Given the description of an element on the screen output the (x, y) to click on. 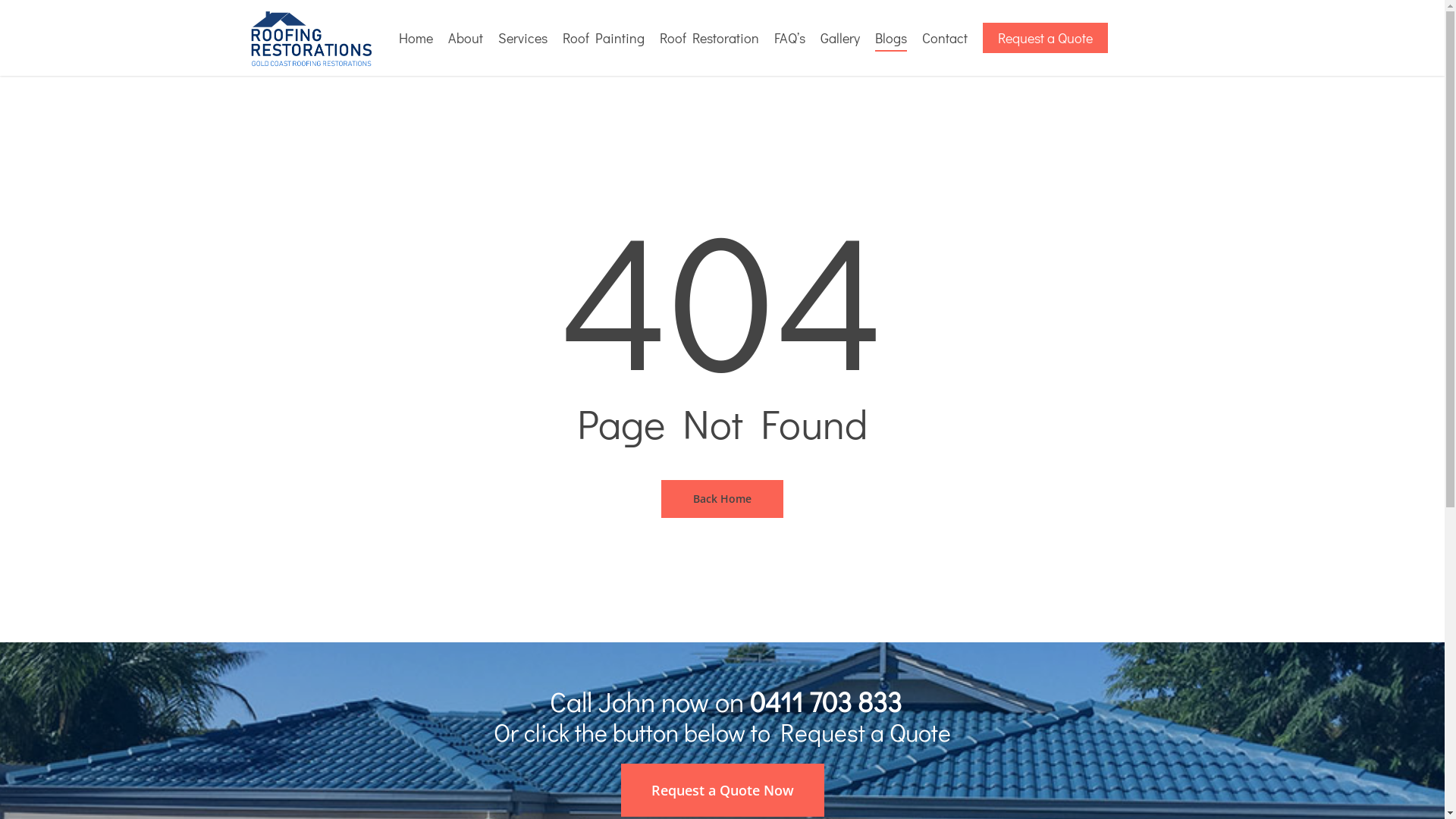
Request a Quote Element type: text (1044, 37)
Home Element type: text (415, 37)
Services Element type: text (521, 37)
Blogs Element type: text (890, 37)
Request a Quote Now Element type: text (721, 789)
Contact Element type: text (944, 37)
Roof Restoration Element type: text (709, 37)
Gallery Element type: text (839, 37)
About Element type: text (464, 37)
Roof Painting Element type: text (603, 37)
Back Home Element type: text (722, 498)
